Given the description of an element on the screen output the (x, y) to click on. 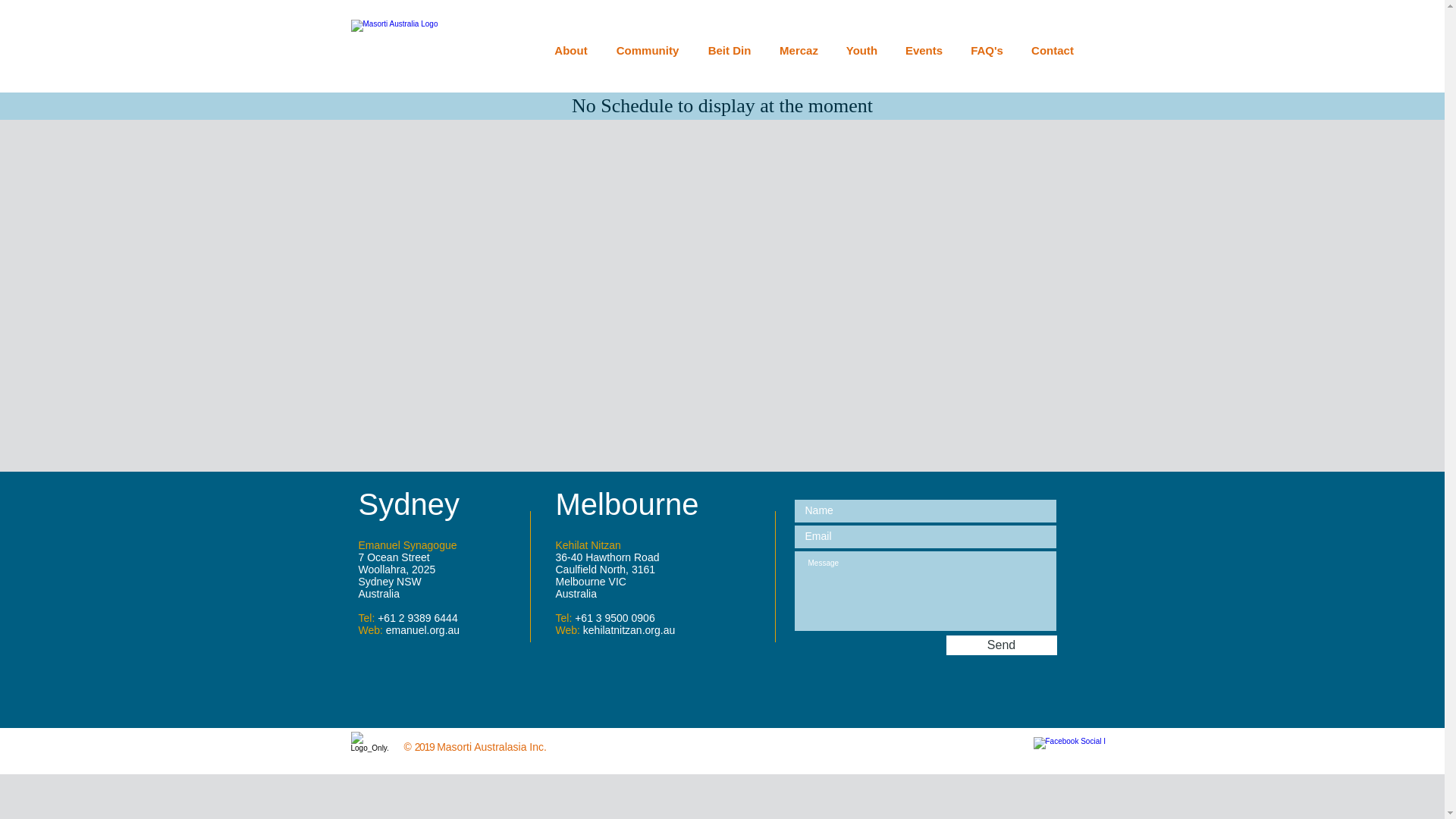
Mercaz Element type: text (798, 50)
Events Element type: text (924, 50)
Beit Din Element type: text (729, 50)
Community Element type: text (647, 50)
FAQ's Element type: text (987, 50)
Send Element type: text (1001, 645)
kehilatnitzan.org.au Element type: text (628, 630)
Contact Element type: text (1052, 50)
Masorti Australia Logo Element type: hover (422, 49)
About Element type: text (570, 50)
emanuel.org.au Element type: text (422, 630)
Youth Element type: text (861, 50)
